Given the description of an element on the screen output the (x, y) to click on. 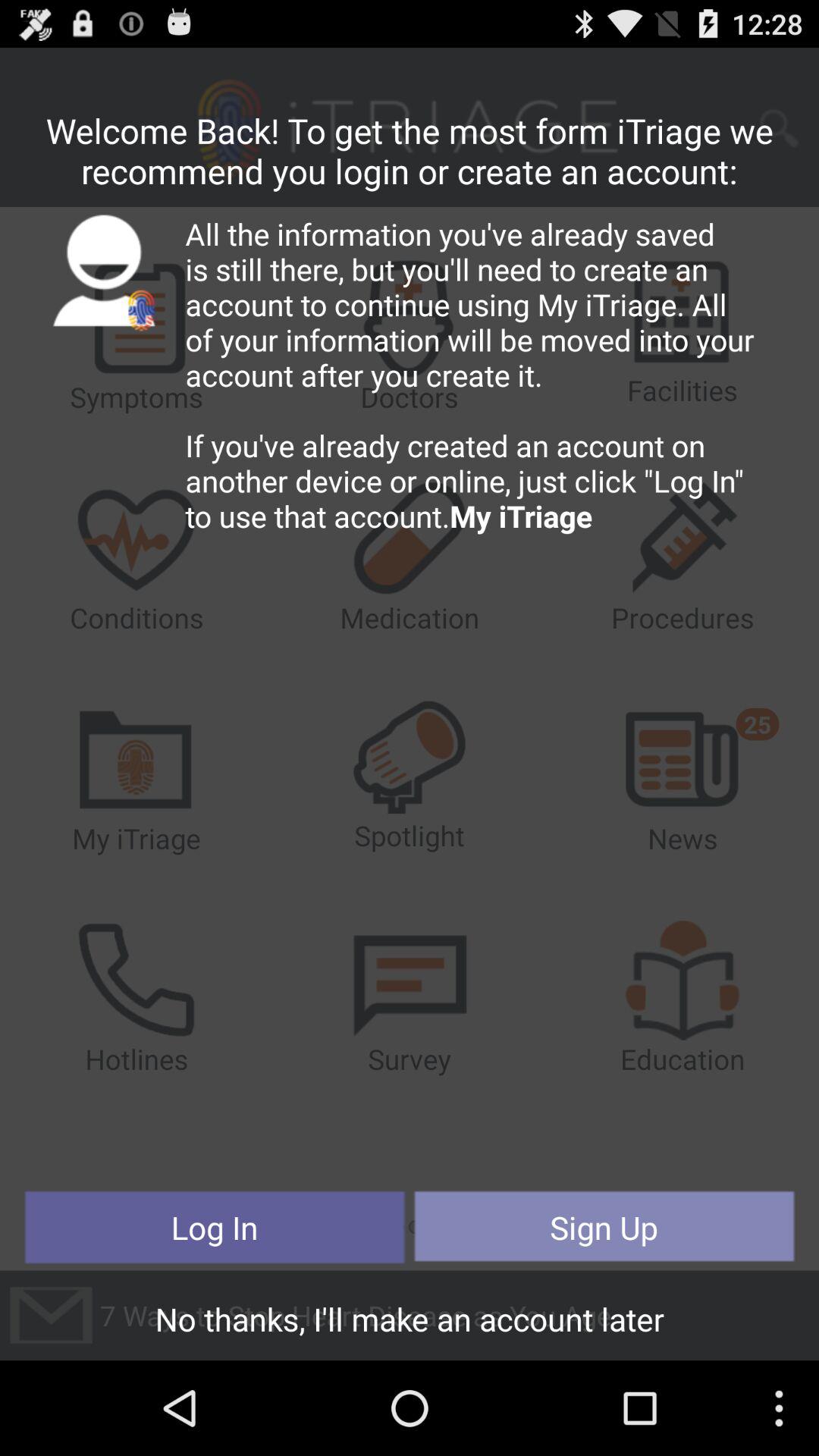
click the no thanks i button (409, 1323)
